Given the description of an element on the screen output the (x, y) to click on. 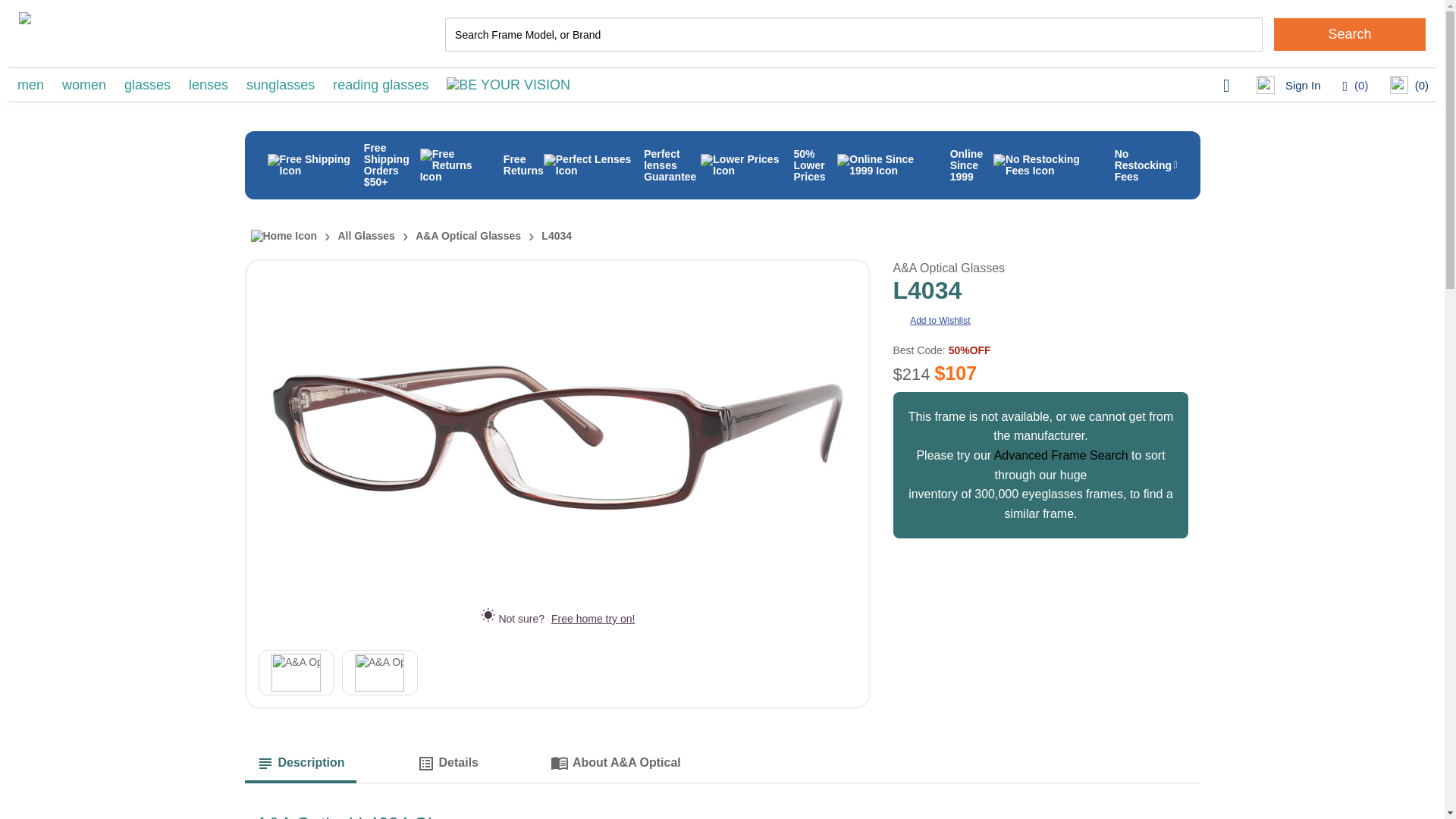
Search (1349, 34)
Sign In (1288, 86)
  Sign In (1288, 86)
Search (1349, 34)
Shopping Cart (1409, 86)
Need Help? (1228, 86)
men (30, 84)
Eyeglasses.com (147, 34)
Wishlist (1355, 85)
